Given the description of an element on the screen output the (x, y) to click on. 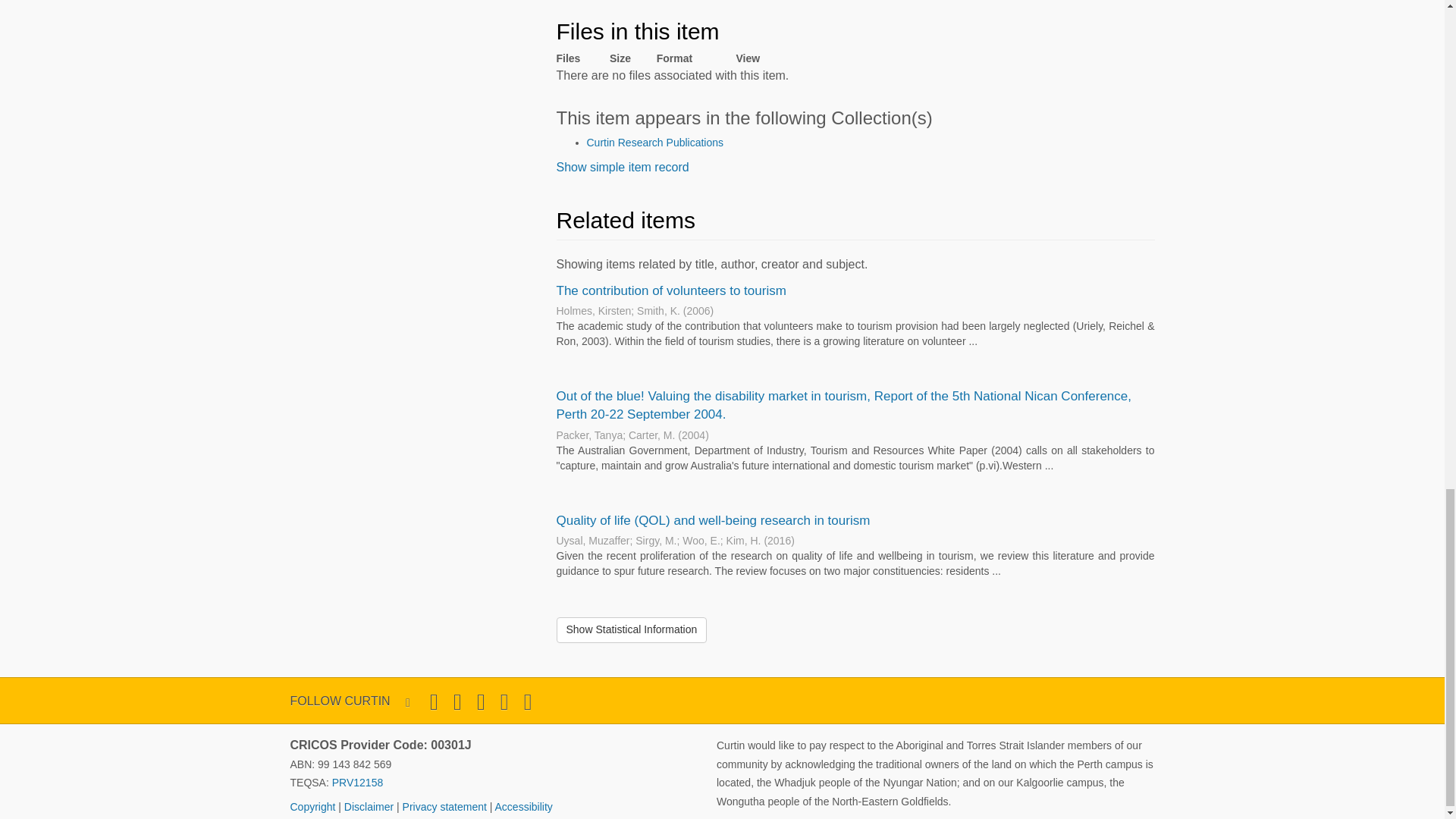
The contribution of volunteers to tourism (671, 290)
Show simple item record (622, 166)
Curtin Research Publications (654, 142)
Show Statistical Information (631, 629)
